Given the description of an element on the screen output the (x, y) to click on. 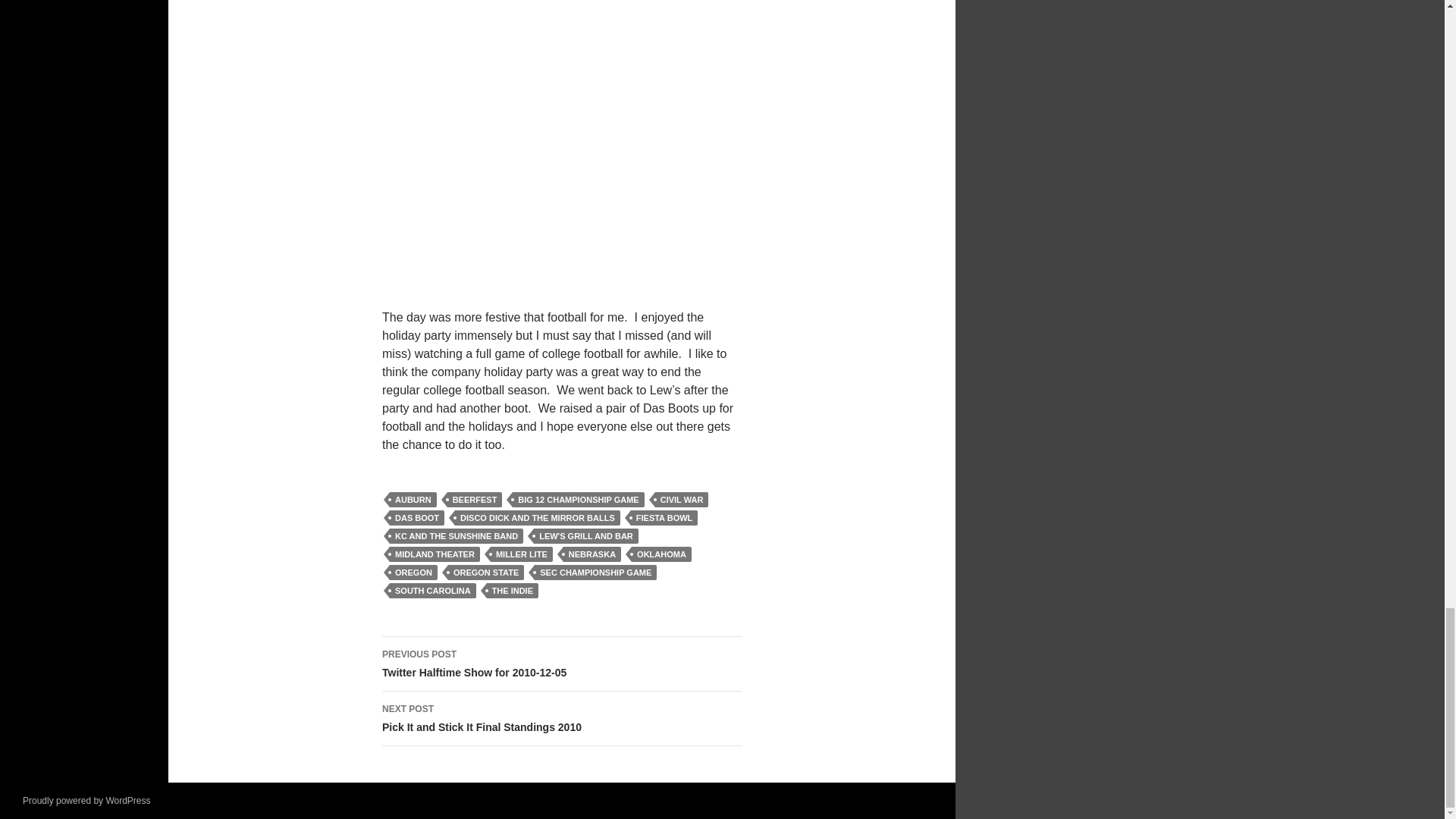
NEBRASKA (592, 554)
CIVIL WAR (682, 499)
FIESTA BOWL (664, 517)
DISCO DICK AND THE MIRROR BALLS (537, 517)
cimg0692 (561, 144)
KC AND THE SUNSHINE BAND (456, 535)
LEW'S GRILL AND BAR (586, 535)
OREGON (414, 572)
SEC CHAMPIONSHIP GAME (595, 572)
OKLAHOMA (661, 554)
